Given the description of an element on the screen output the (x, y) to click on. 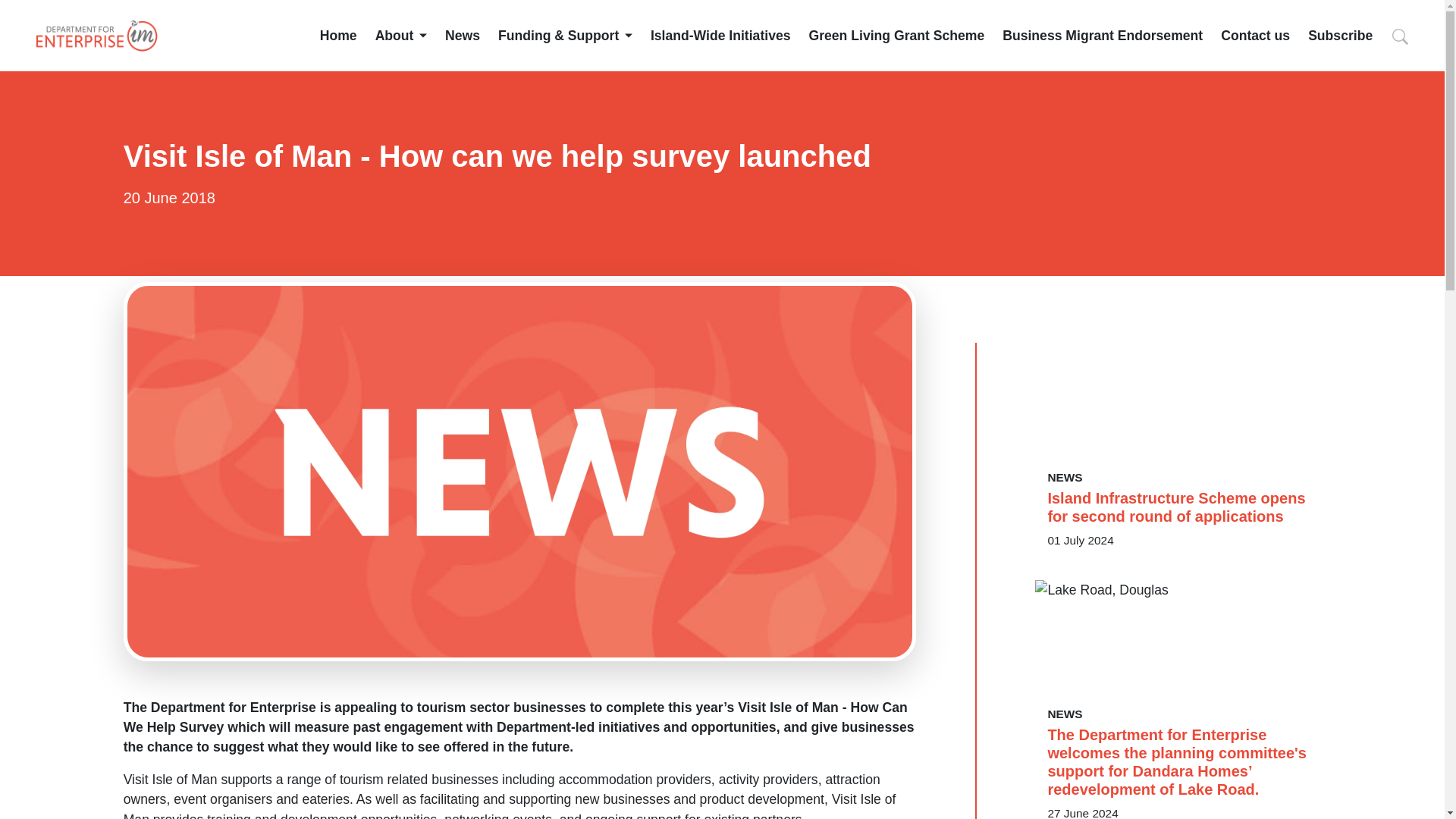
About (400, 35)
Business Migrant Endorsement (1102, 35)
Green Living Grant Scheme (897, 35)
Contact us (1255, 35)
Subscribe (1340, 35)
Island-Wide Initiatives (720, 35)
